Given the description of an element on the screen output the (x, y) to click on. 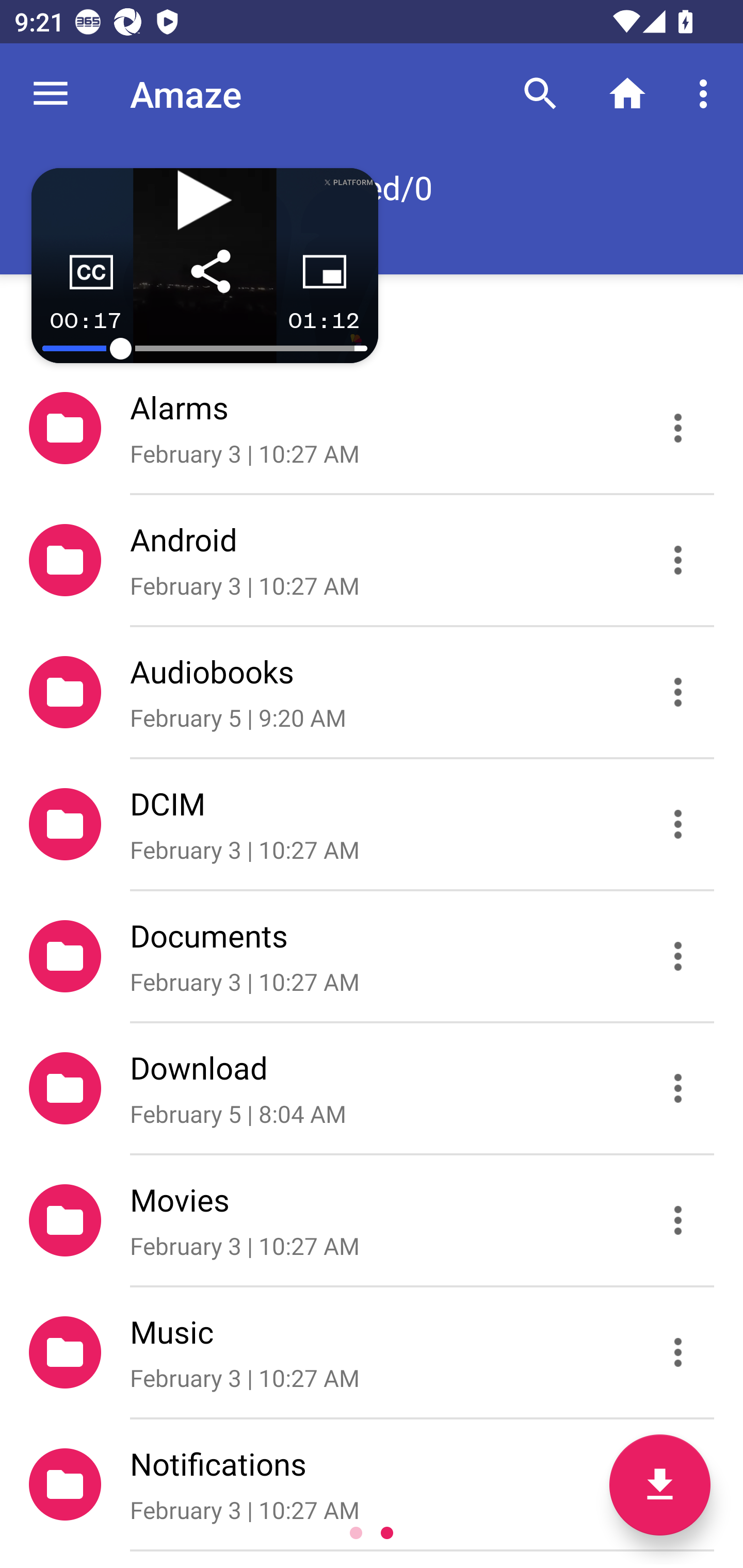
Navigate up (50, 93)
Search (540, 93)
Home (626, 93)
More options (706, 93)
Alarms February 3 | 10:27 AM (371, 427)
Android February 3 | 10:27 AM (371, 560)
Audiobooks February 5 | 9:20 AM (371, 692)
DCIM February 3 | 10:27 AM (371, 823)
Documents February 3 | 10:27 AM (371, 955)
Download February 5 | 8:04 AM (371, 1088)
Movies February 3 | 10:27 AM (371, 1220)
Music February 3 | 10:27 AM (371, 1352)
Notifications February 3 | 10:27 AM (371, 1484)
